Given the description of an element on the screen output the (x, y) to click on. 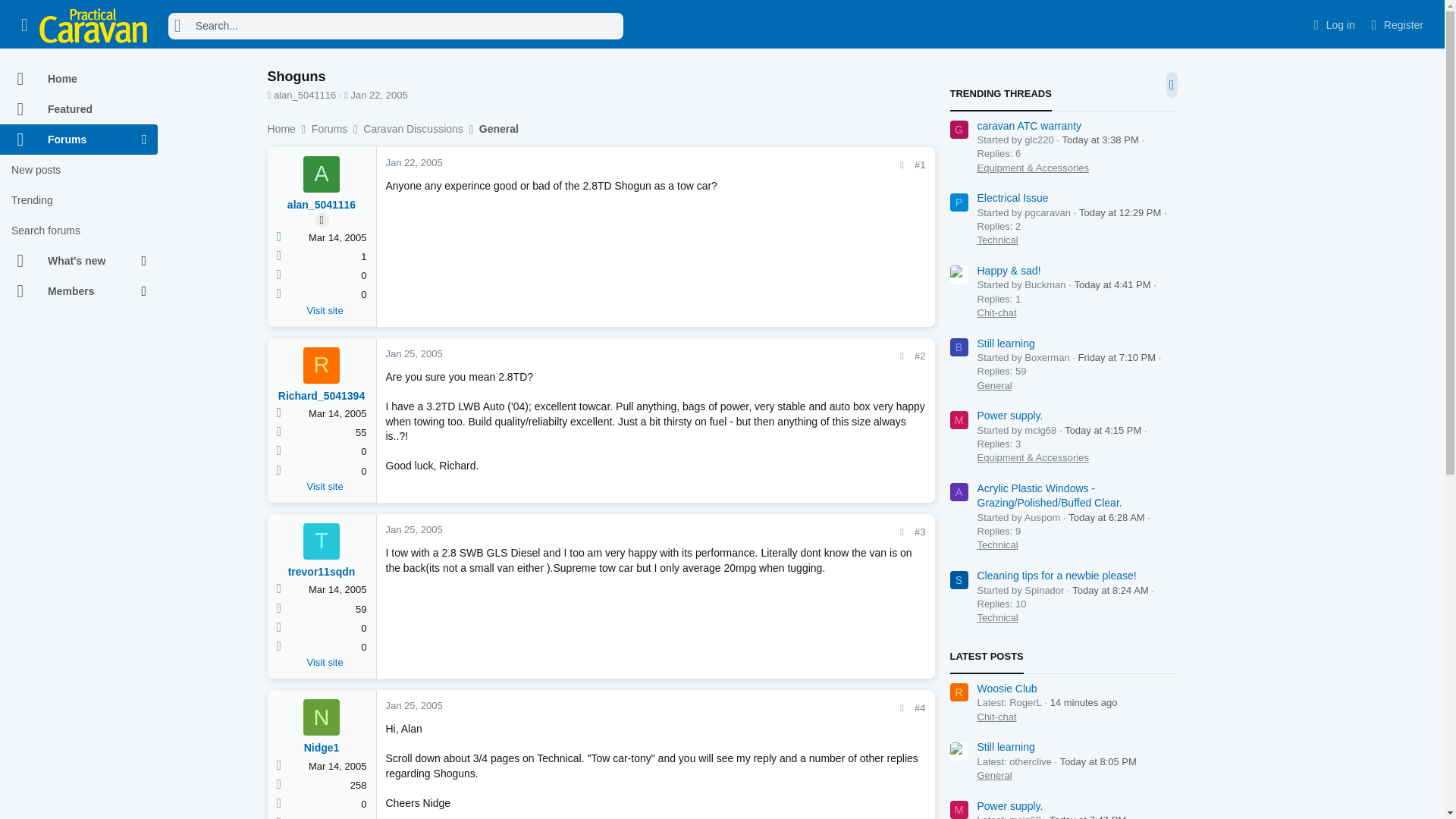
New posts (78, 169)
Jan 22, 2005 at 7:17 PM (378, 94)
Original poster (321, 219)
Home (78, 78)
Log in (1332, 24)
Register (1395, 24)
What's new (70, 260)
Featured (78, 109)
Search forums (78, 230)
Trending (78, 200)
